Given the description of an element on the screen output the (x, y) to click on. 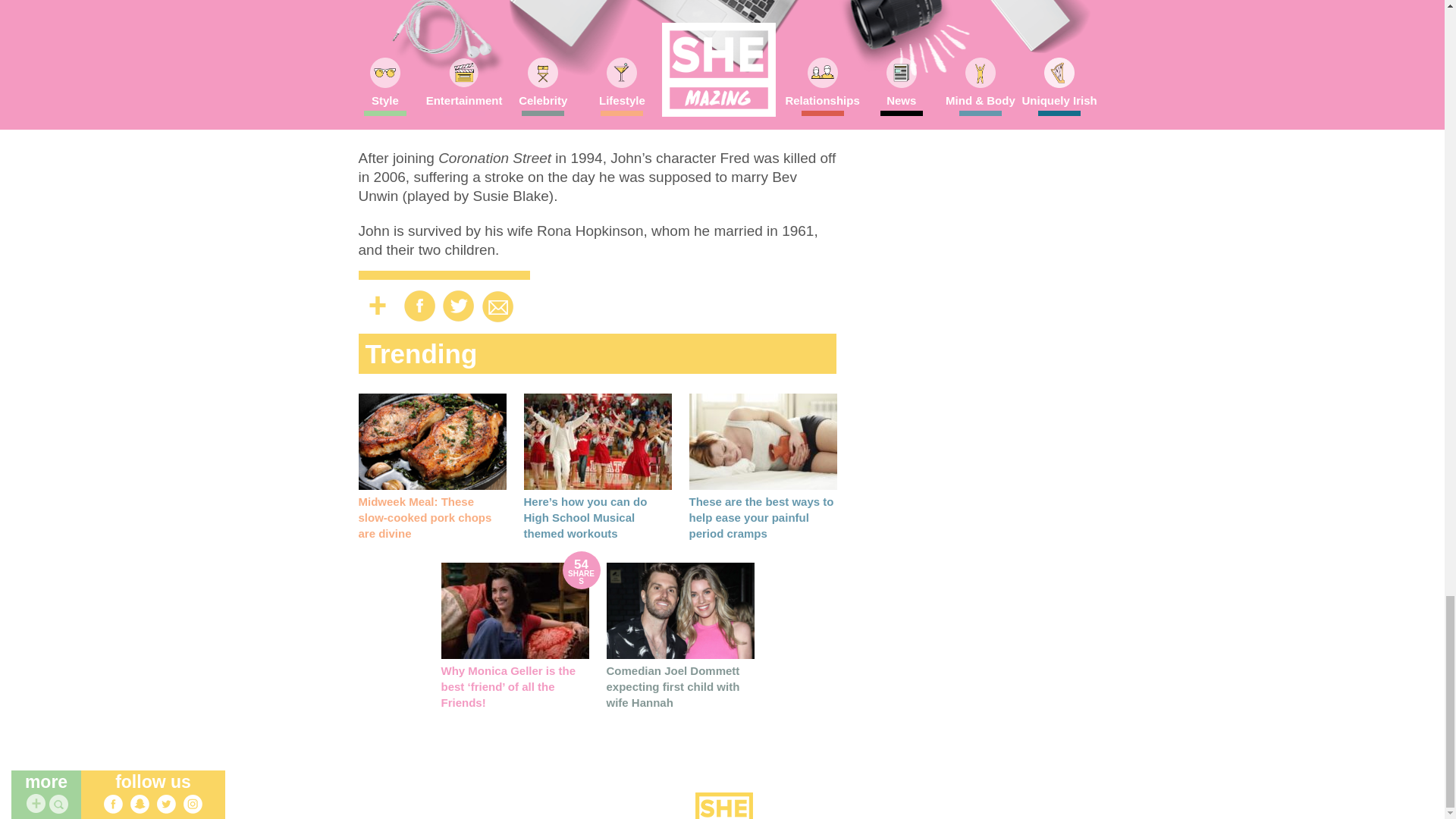
Midweek Meal: These slow-cooked pork chops are divine (431, 441)
Comedian Joel Dommett expecting first child with wife Hannah (680, 610)
Midweek Meal: These slow-cooked pork chops are divine (425, 517)
Comedian Joel Dommett expecting first child with wife Hannah (673, 686)
